Given the description of an element on the screen output the (x, y) to click on. 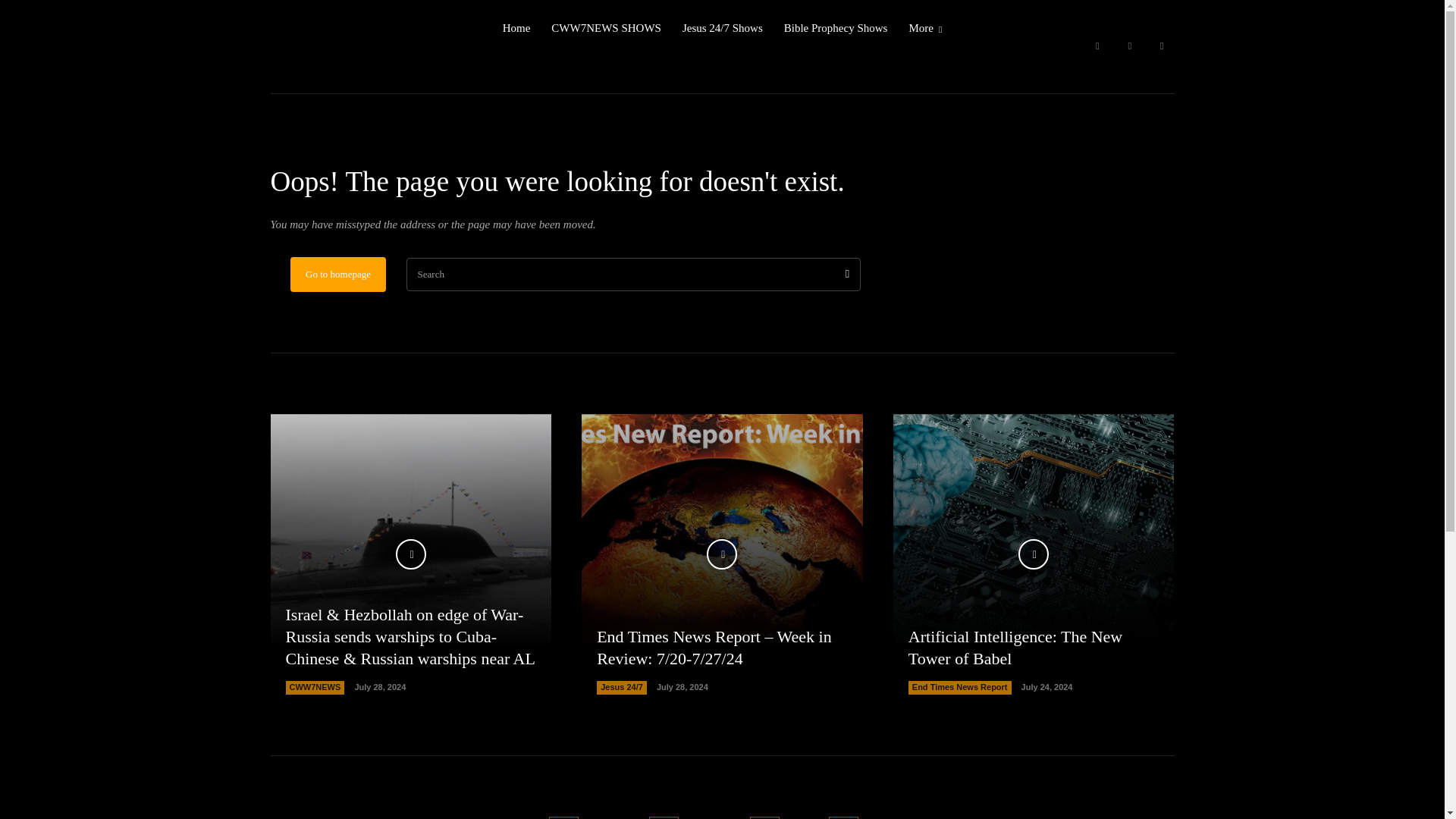
Twitter (843, 817)
Twitter (1162, 46)
CWW7NEWS (314, 687)
CWW7NEWS SHOWS (606, 28)
End Times News Report (959, 687)
Artificial Intelligence: The New Tower of Babel (1033, 554)
Bible Prophecy Shows (836, 28)
Instagram (1130, 46)
Go to homepage (337, 274)
RSS (763, 817)
Instagram (663, 817)
Artificial Intelligence: The New Tower of Babel (1015, 647)
Artificial Intelligence: The New Tower of Babel (1015, 647)
Go to homepage (337, 274)
Facebook (1096, 46)
